Given the description of an element on the screen output the (x, y) to click on. 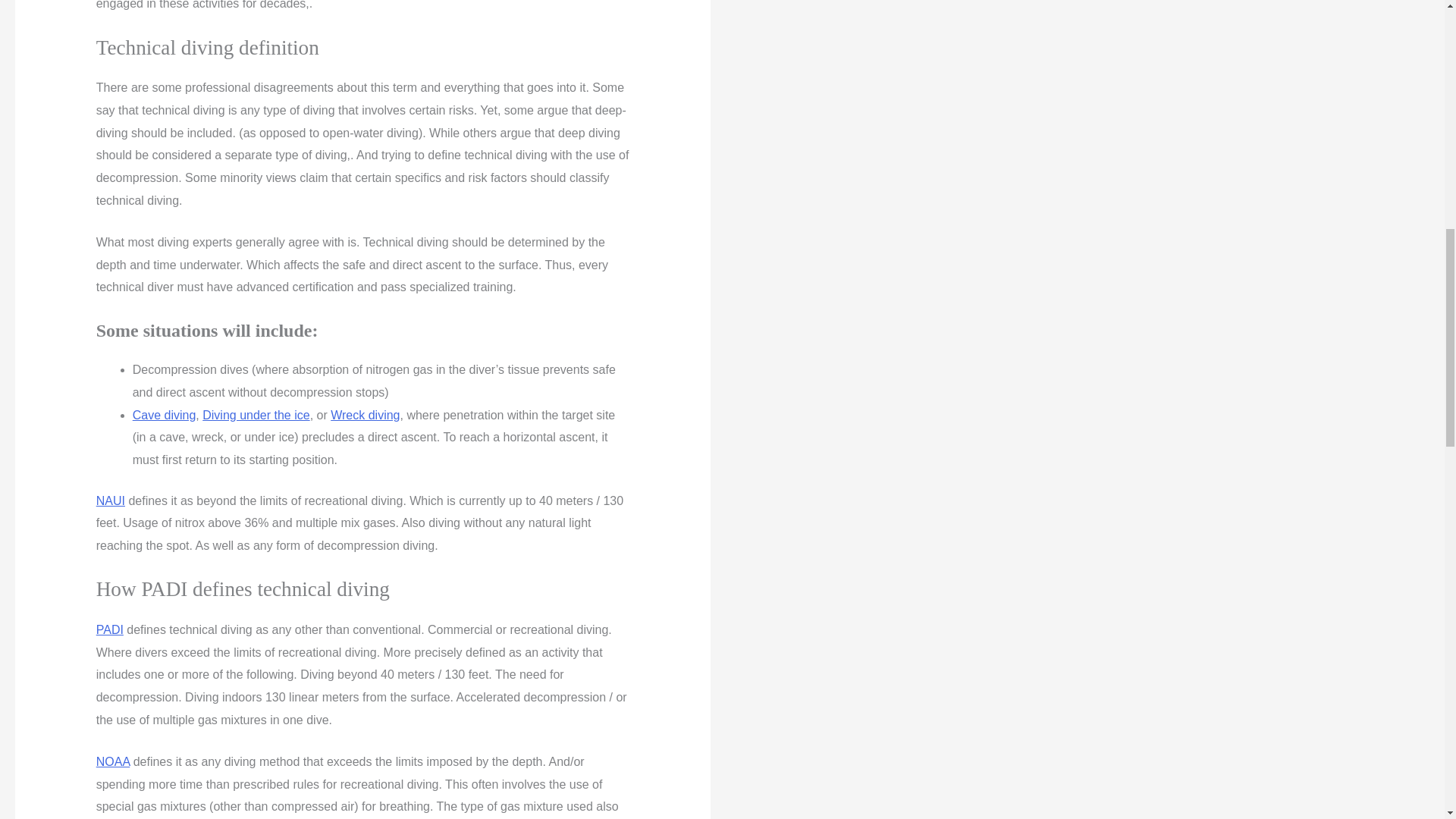
Wreck diving (364, 414)
Diving under the ice (255, 414)
NAUI (110, 500)
Cave diving (164, 414)
NOAA (112, 761)
PADI (109, 629)
